Given the description of an element on the screen output the (x, y) to click on. 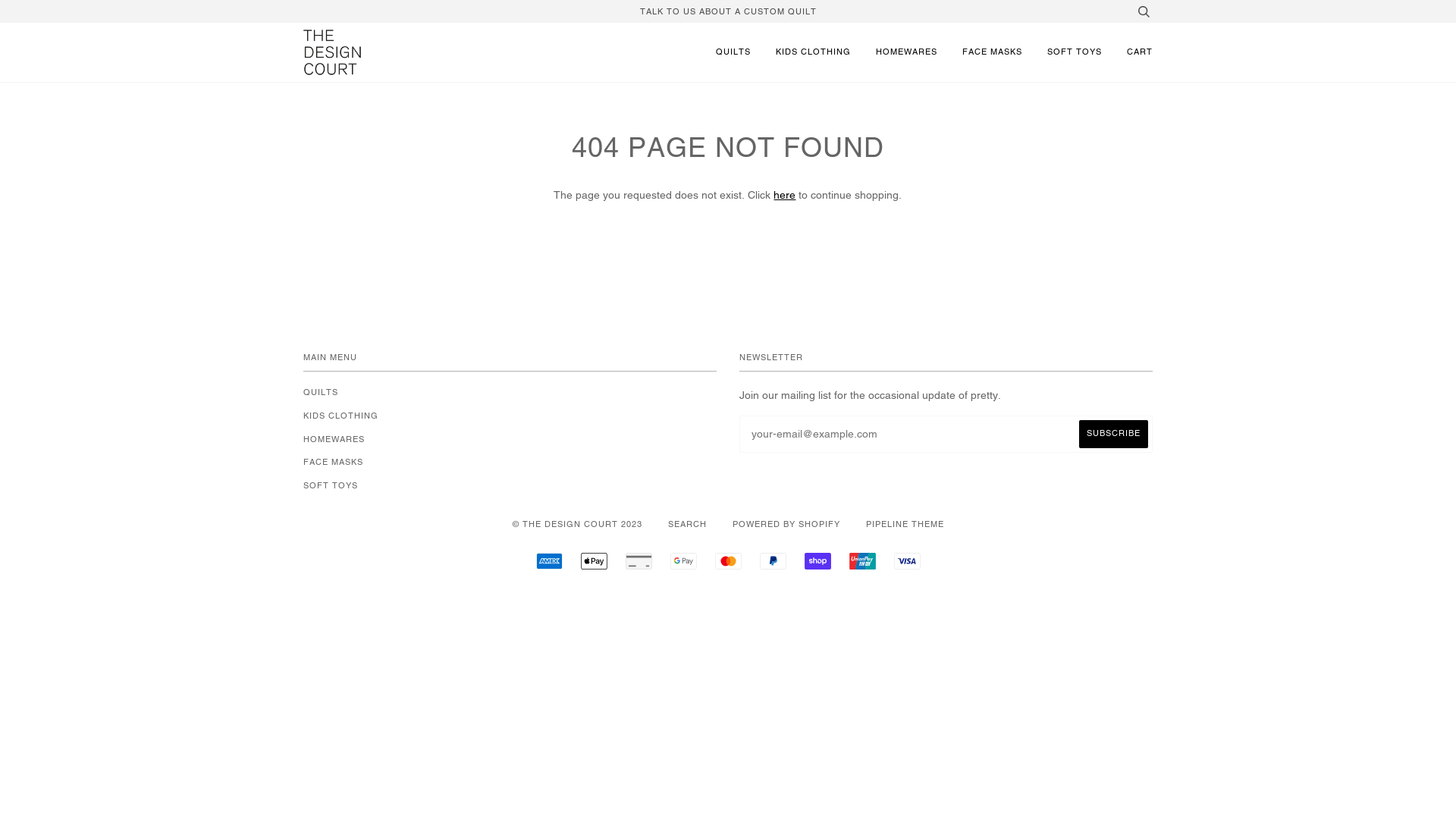
POWERED BY SHOPIFY Element type: text (786, 523)
QUILTS Element type: text (732, 51)
KIDS CLOTHING Element type: text (340, 415)
HOMEWARES Element type: text (906, 51)
HOMEWARES Element type: text (333, 438)
SOFT TOYS Element type: text (330, 485)
SOFT TOYS Element type: text (1074, 51)
FACE MASKS Element type: text (992, 51)
SEARCH Element type: text (686, 523)
FACE MASKS Element type: text (333, 461)
KIDS CLOTHING Element type: text (812, 51)
QUILTS Element type: text (320, 391)
here Element type: text (784, 194)
PIPELINE THEME Element type: text (905, 523)
CART Element type: text (1139, 51)
Subscribe Element type: text (1113, 434)
